Given the description of an element on the screen output the (x, y) to click on. 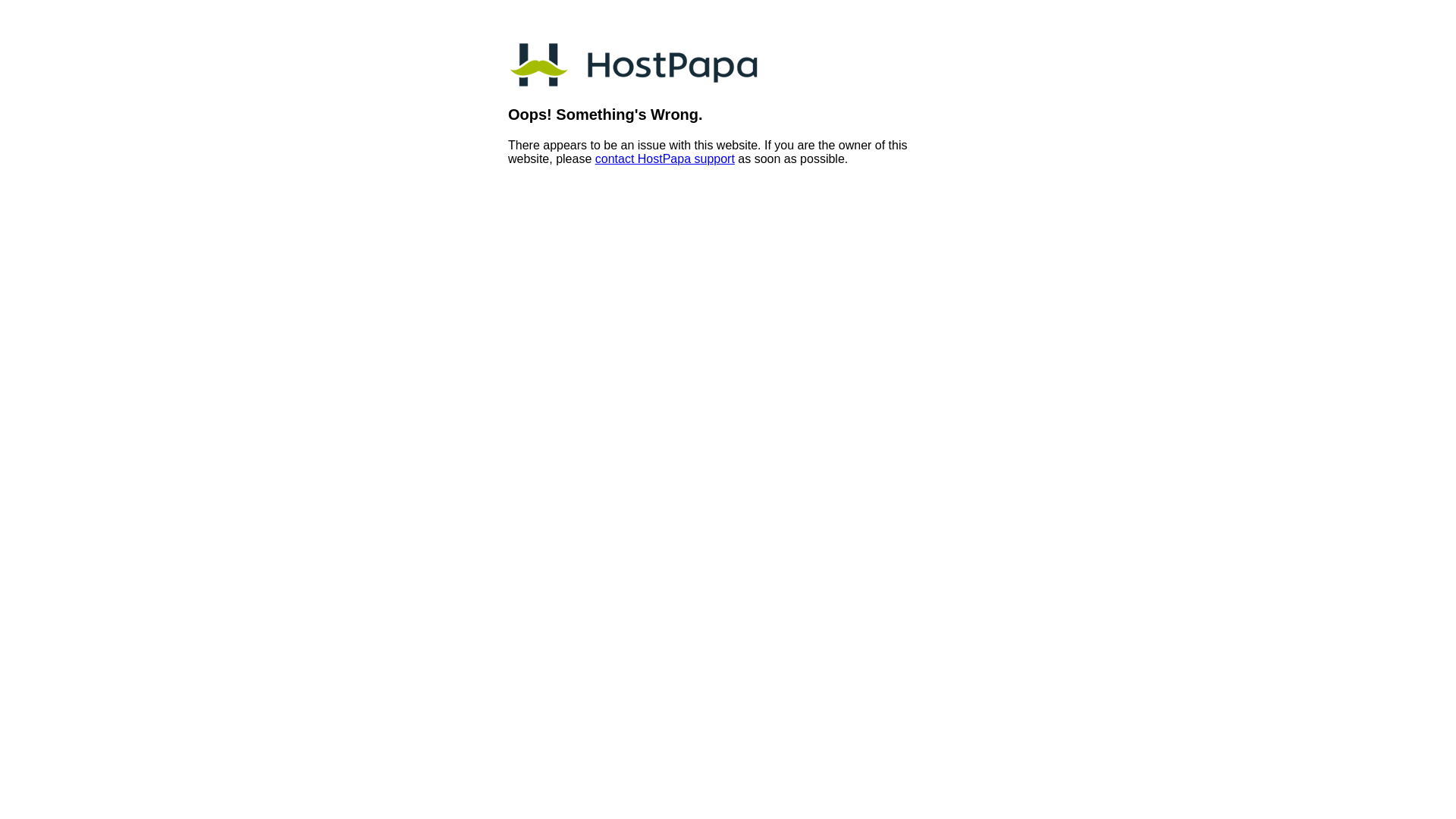
contact HostPapa support Element type: text (664, 158)
